Given the description of an element on the screen output the (x, y) to click on. 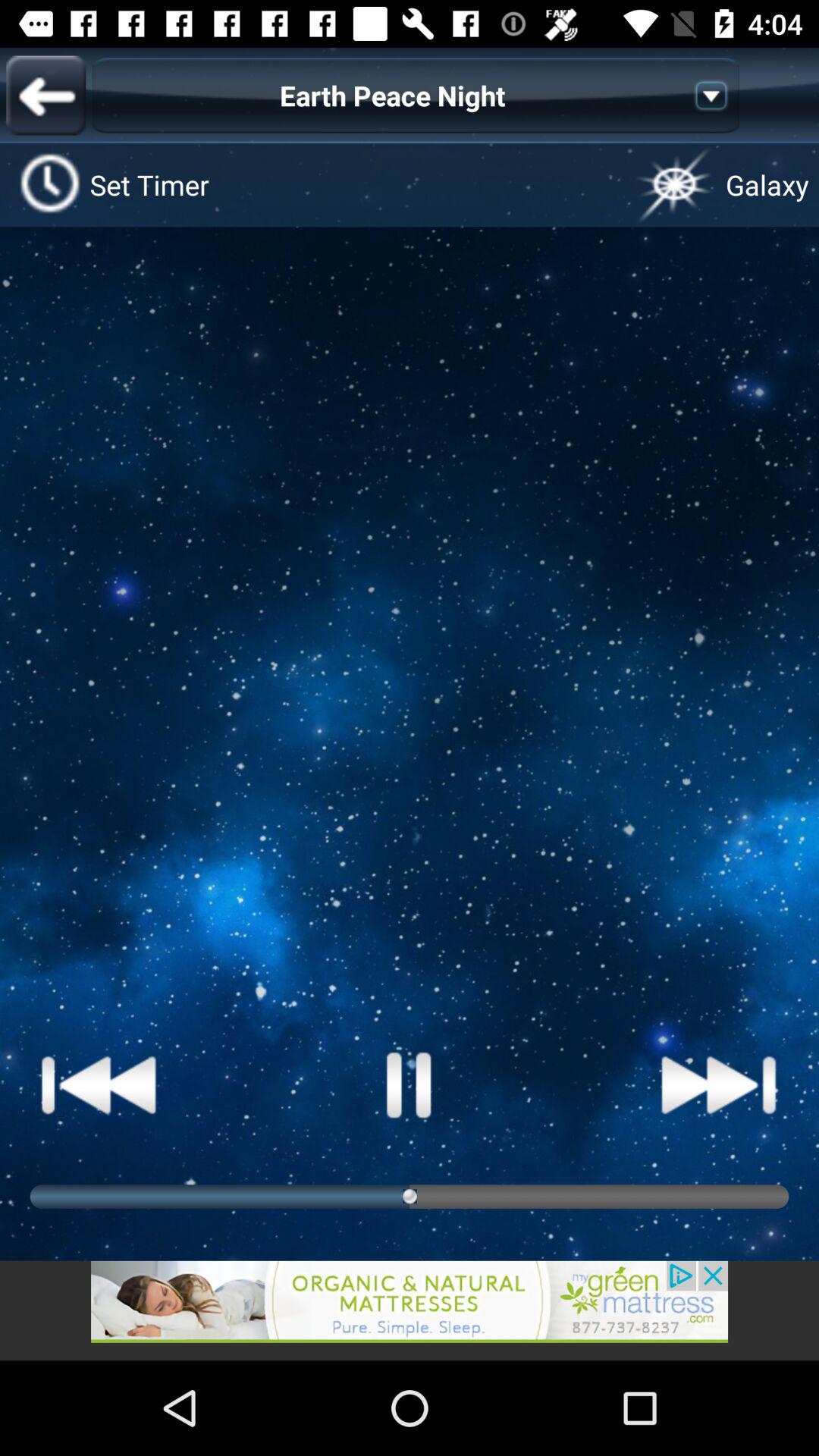
next the song button (99, 1084)
